Given the description of an element on the screen output the (x, y) to click on. 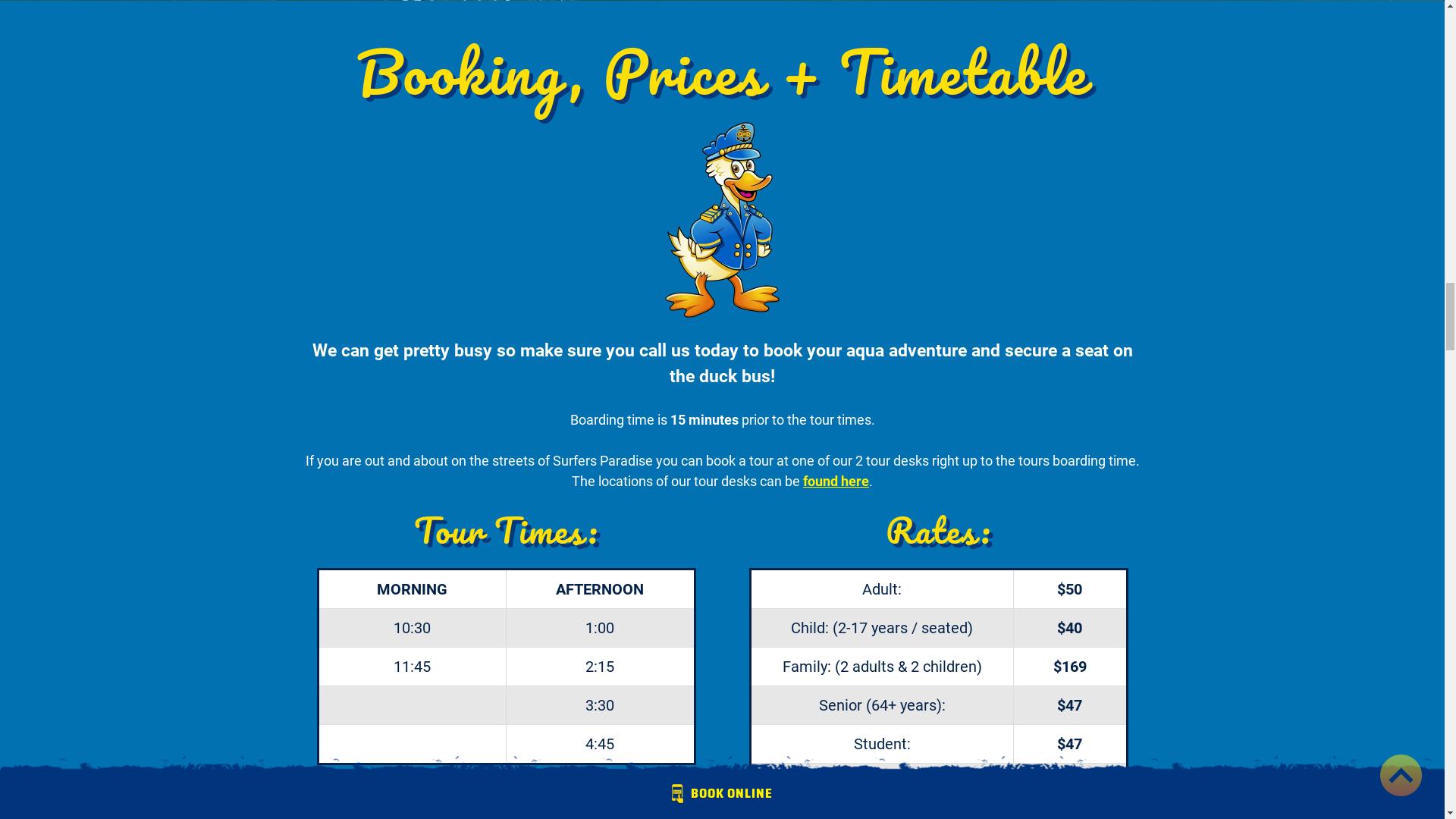
CALL US NOW: (07) 5679 3279 Element type: text (722, 21)
GET DIRECTIONS Element type: text (722, 22)
